Given the description of an element on the screen output the (x, y) to click on. 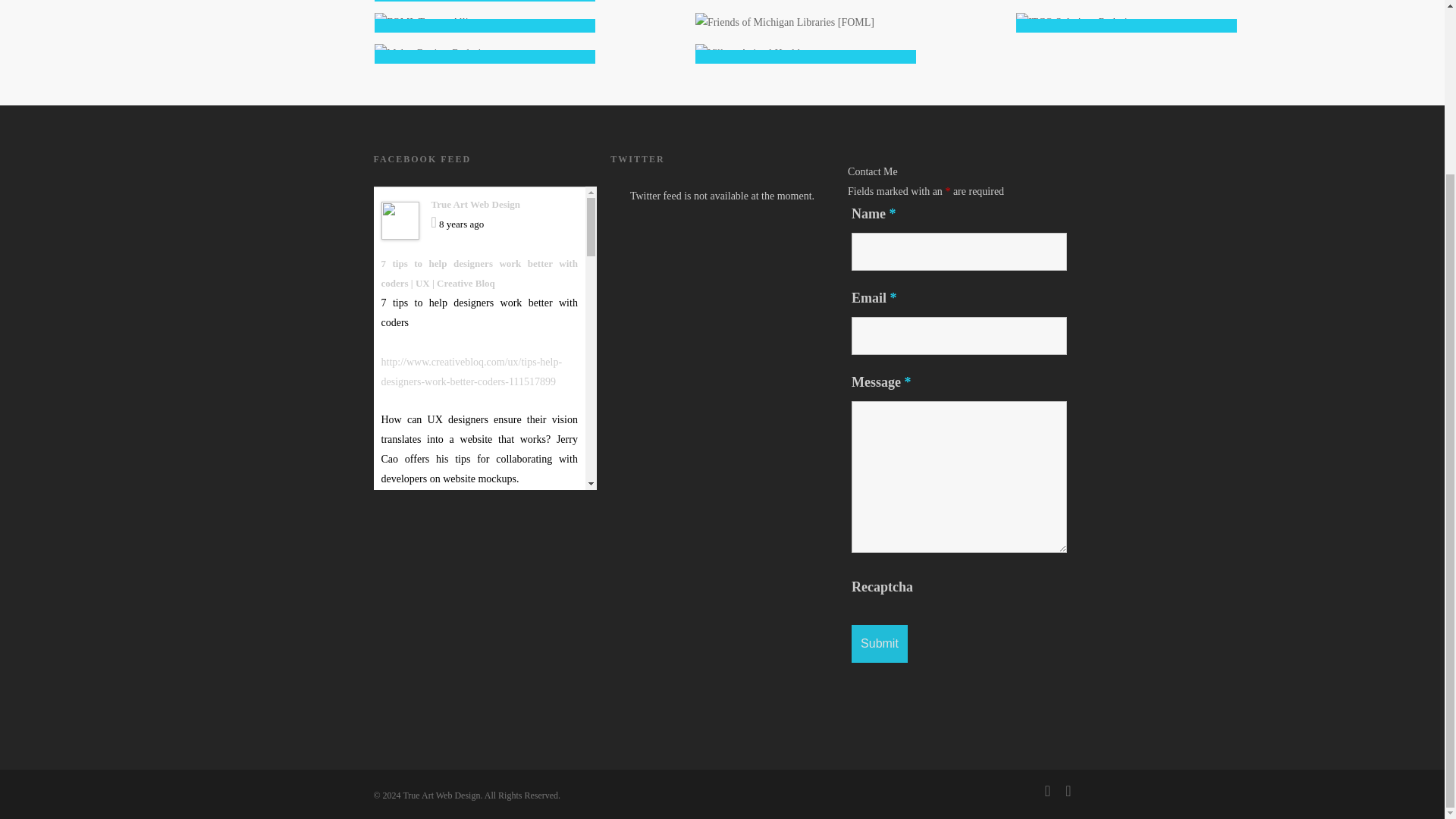
View on facebook (536, 546)
Submit (879, 643)
View on facebook (536, 546)
See more (553, 742)
True Art Web Design (474, 204)
True Art Web Design (425, 644)
True Art Web Design (474, 584)
